Given the description of an element on the screen output the (x, y) to click on. 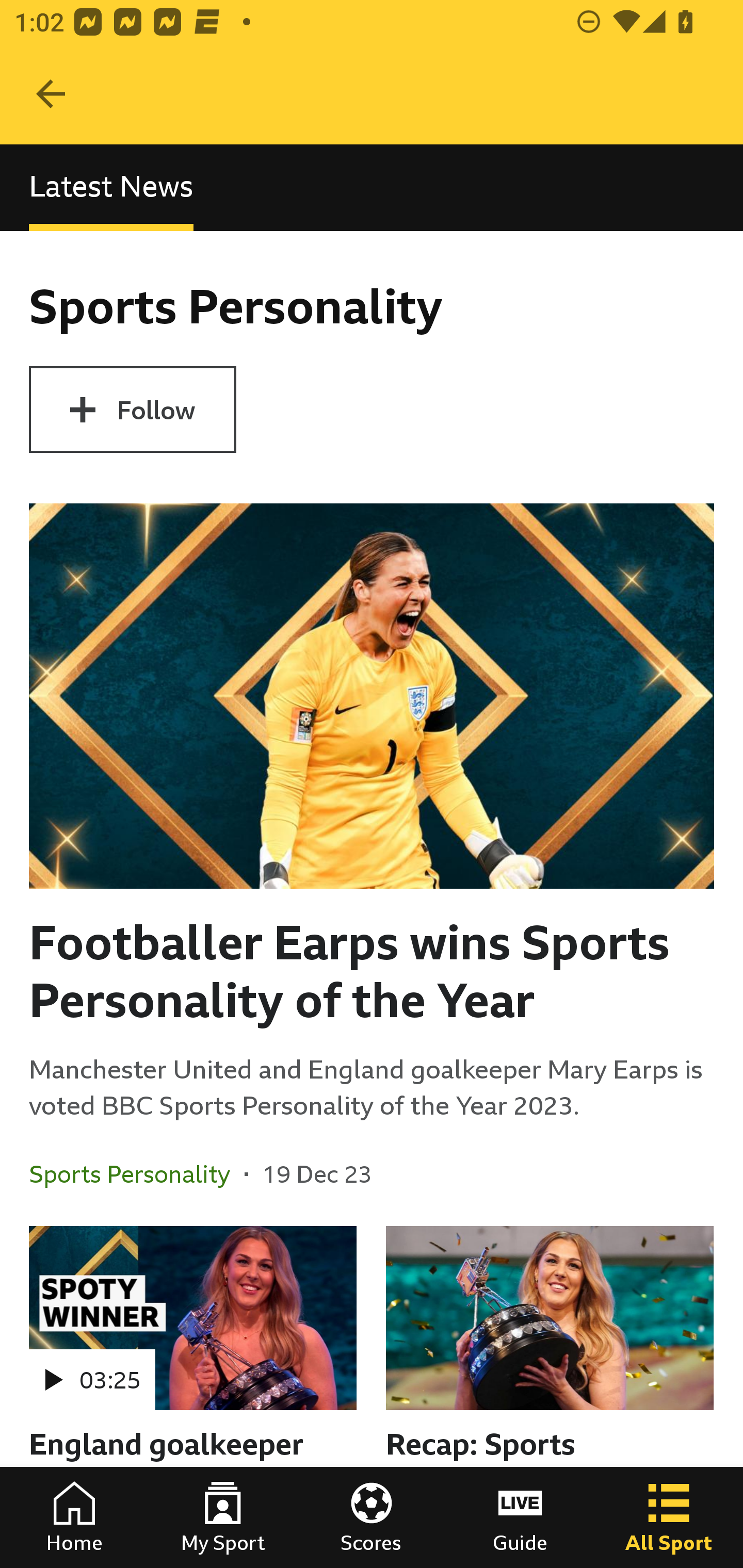
Navigate up (50, 93)
Latest News, selected Latest News (111, 187)
Follow Sports Personality Follow (132, 409)
Home (74, 1517)
My Sport (222, 1517)
Scores (371, 1517)
Guide (519, 1517)
